Given the description of an element on the screen output the (x, y) to click on. 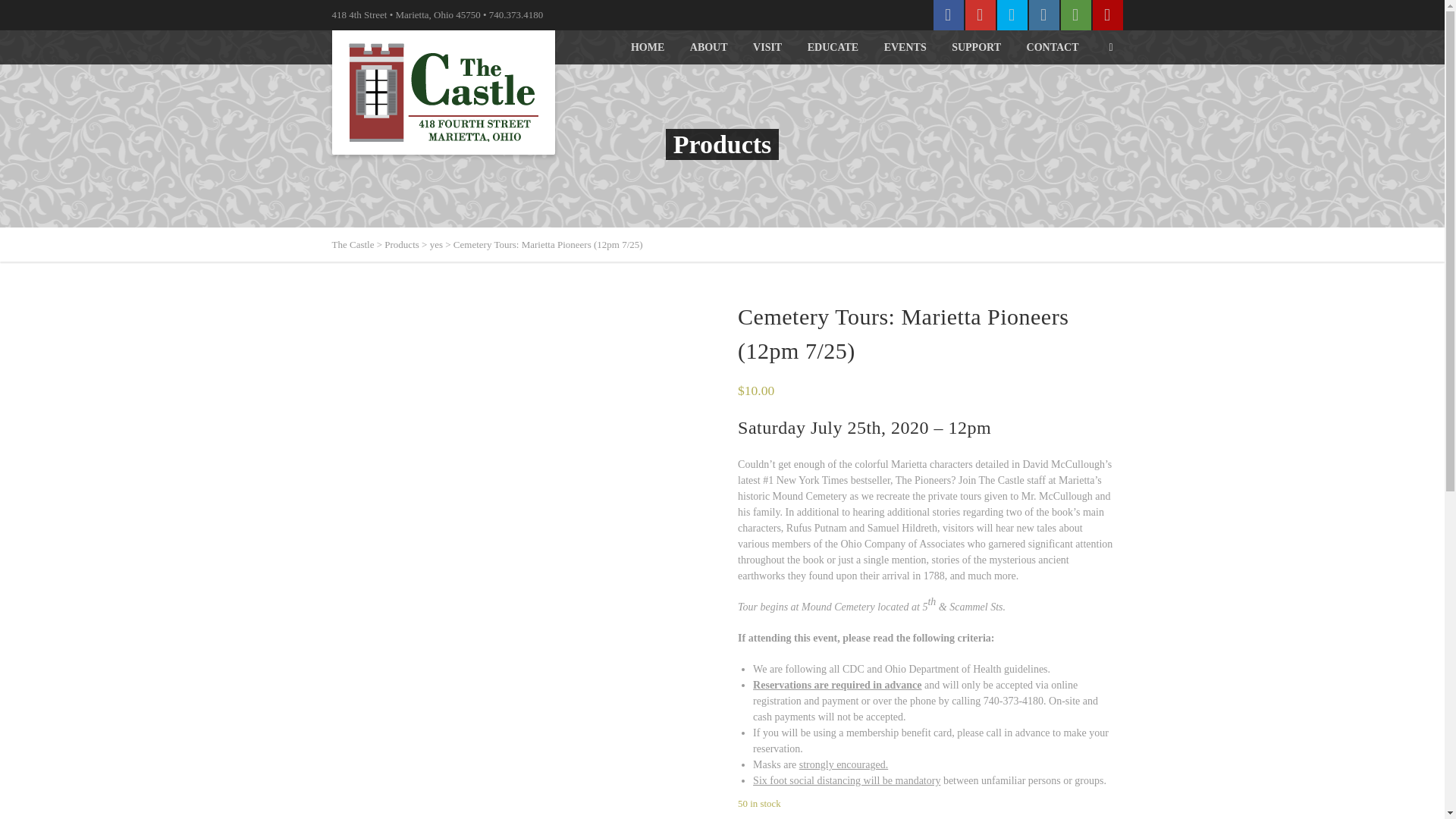
Products (401, 244)
The Castle (352, 244)
EDUCATE (833, 47)
Go to the yes Tag archives. (435, 244)
The Castle (443, 92)
ABOUT (709, 47)
Go to Products. (401, 244)
yes (435, 244)
CONTACT (1052, 47)
HOME (646, 47)
